Given the description of an element on the screen output the (x, y) to click on. 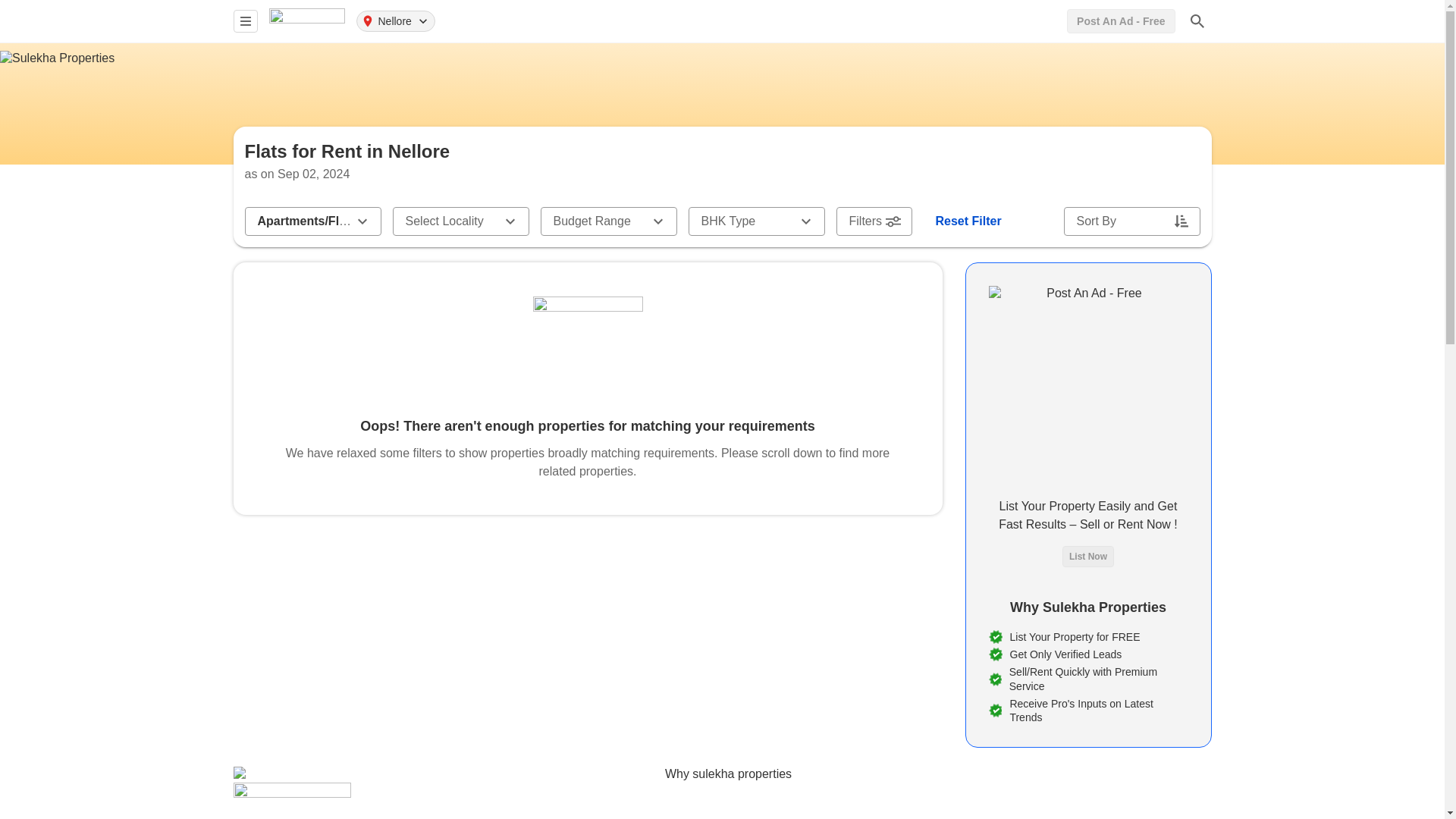
Post An Ad - Free (1120, 21)
Sulekha Property (305, 20)
Post An Ad - Free (1120, 21)
